Given the description of an element on the screen output the (x, y) to click on. 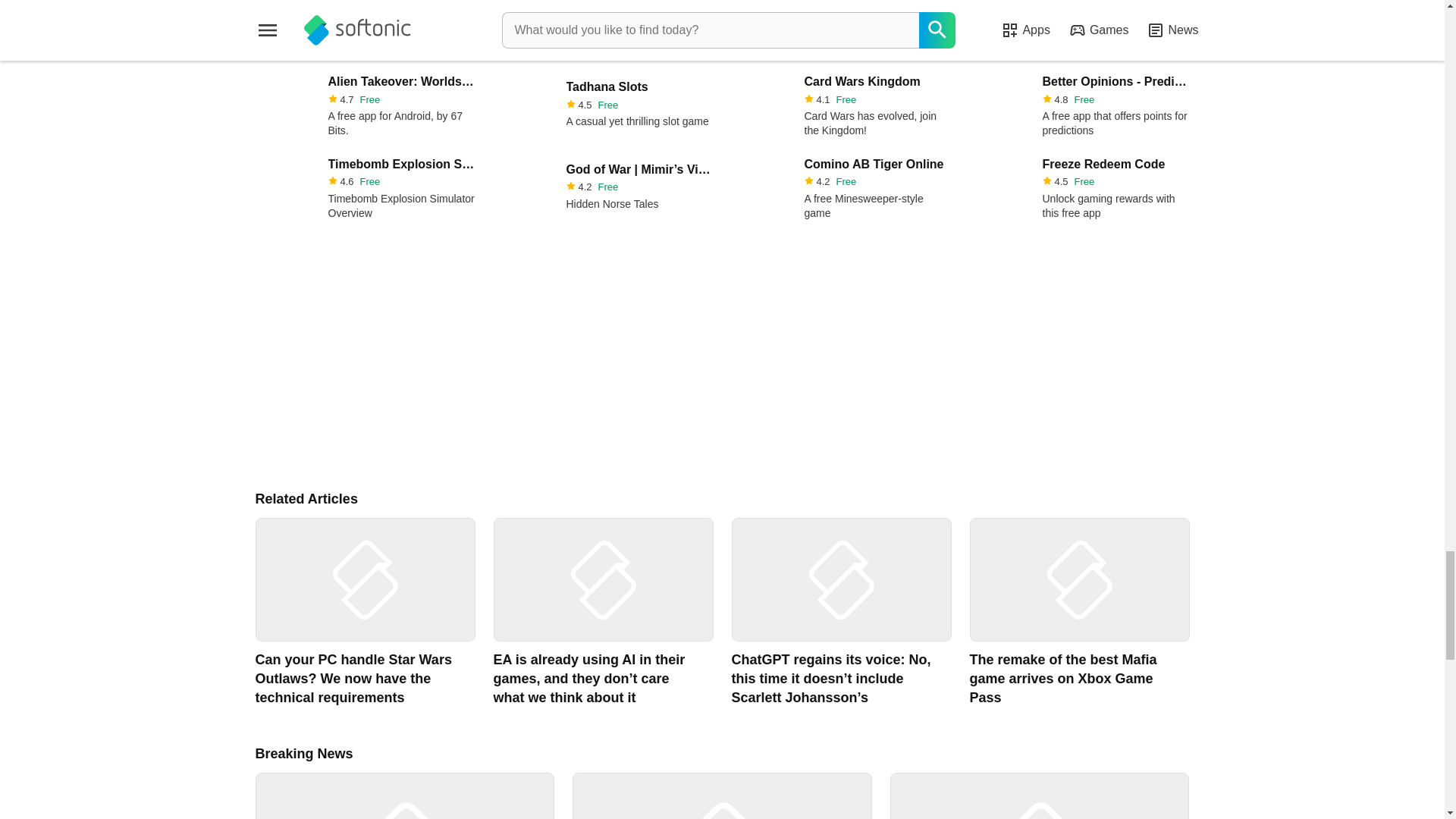
The remake of the best Mafia game arrives on Xbox Game Pass (1078, 612)
